Given the description of an element on the screen output the (x, y) to click on. 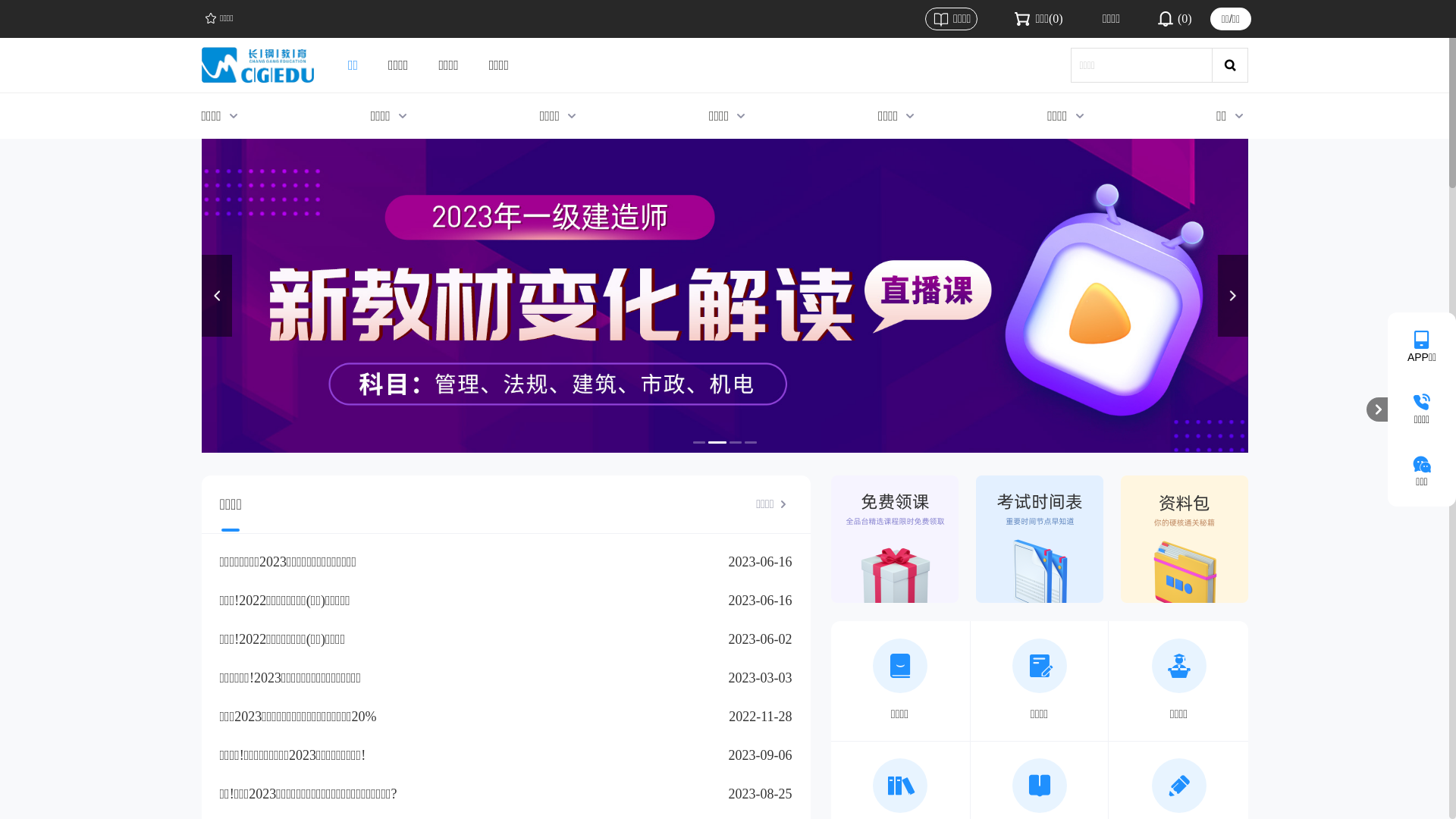
1 Element type: text (699, 442)
2 Element type: text (714, 442)
(0) Element type: text (1174, 18)
3 Element type: text (732, 442)
4 Element type: text (749, 442)
